Given the description of an element on the screen output the (x, y) to click on. 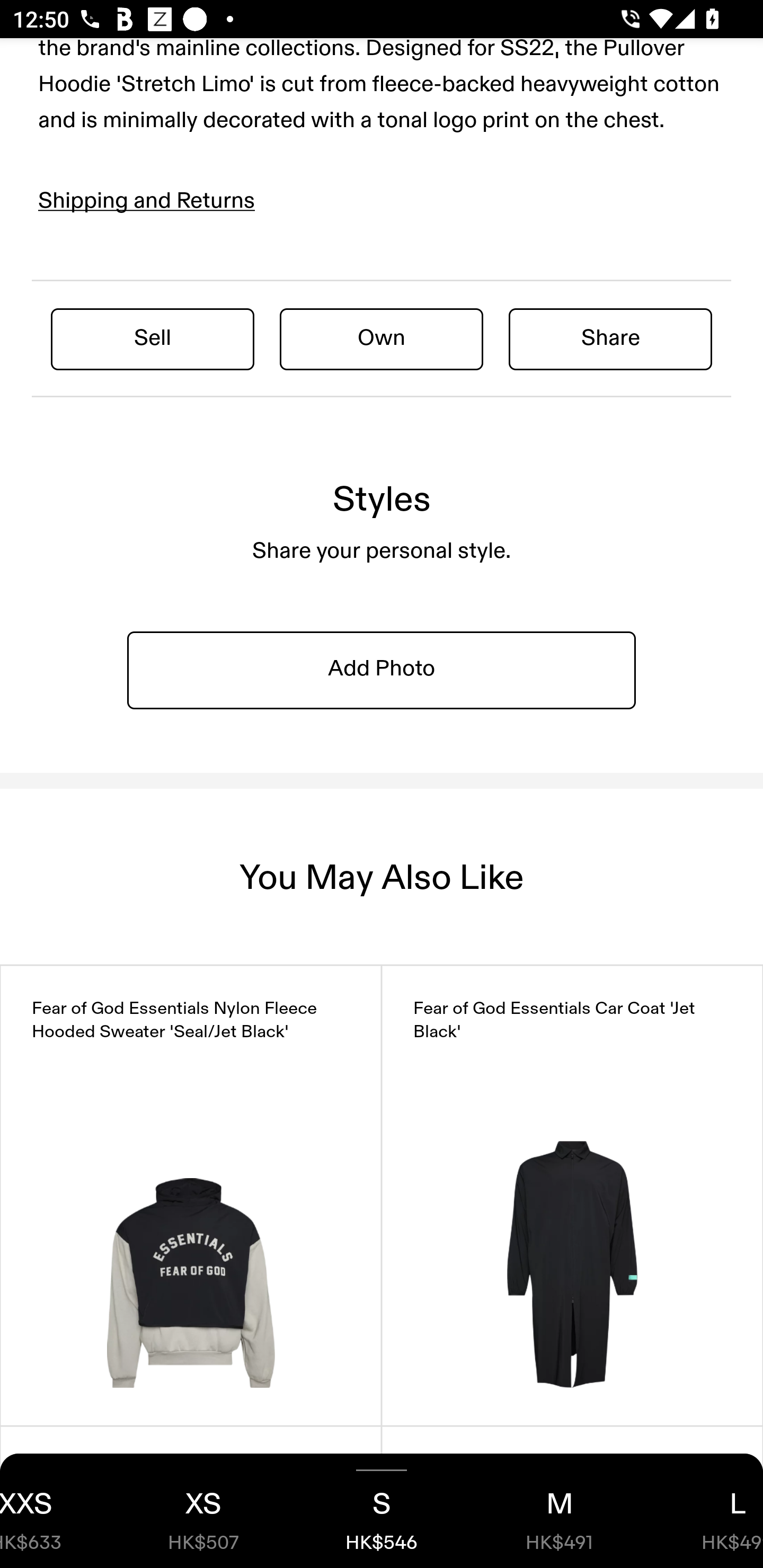
Shipping and Returns (146, 201)
Sell (152, 338)
Own (381, 338)
Share (609, 338)
Add Photo (381, 669)
Fear of God Essentials Car Coat 'Jet Black' (572, 1195)
XXS HK$633 (57, 1510)
XS HK$507 (203, 1510)
S HK$546 (381, 1510)
M HK$491 (559, 1510)
L HK$499 (705, 1510)
